Given the description of an element on the screen output the (x, y) to click on. 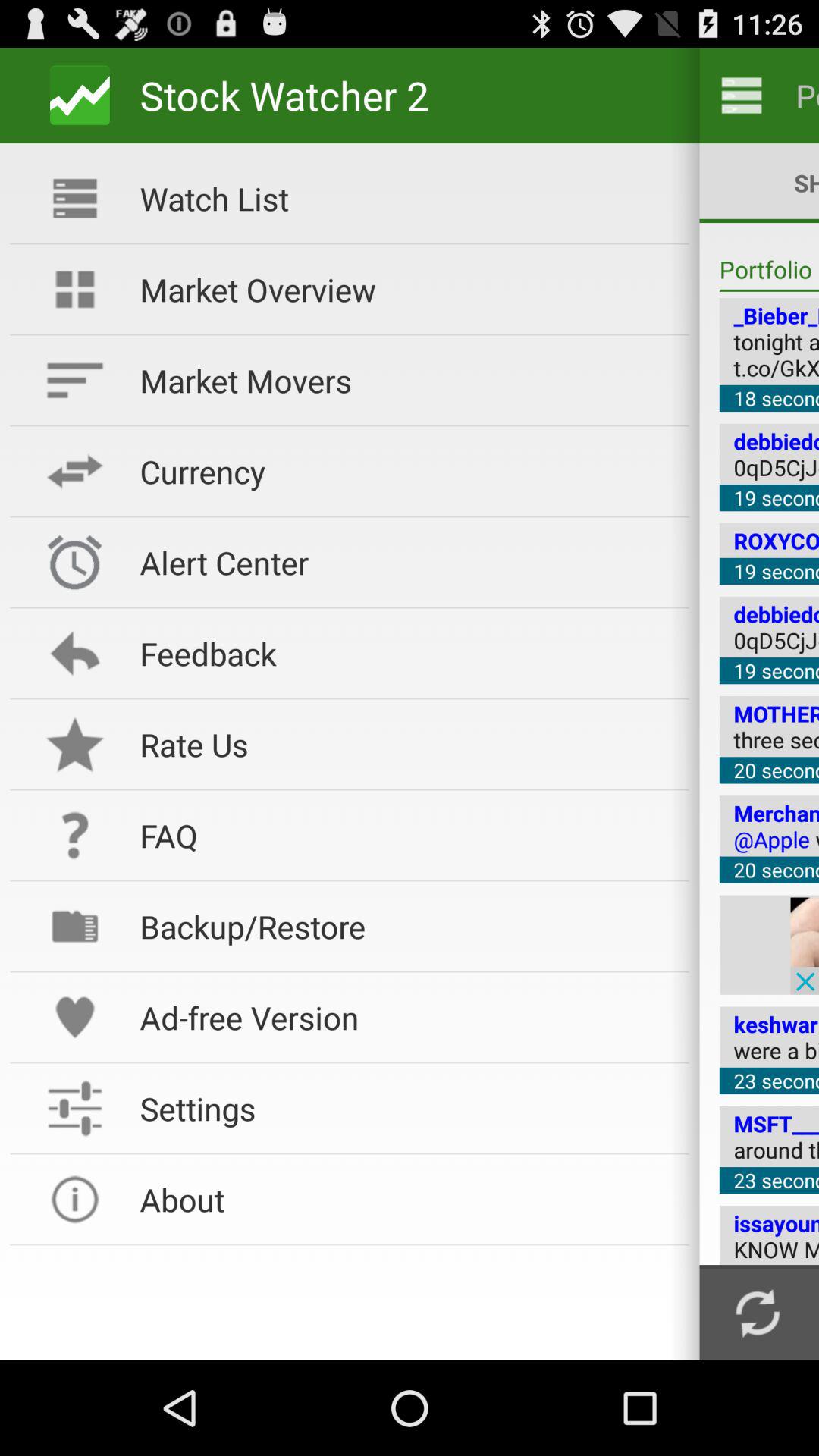
advertisements (804, 944)
